Given the description of an element on the screen output the (x, y) to click on. 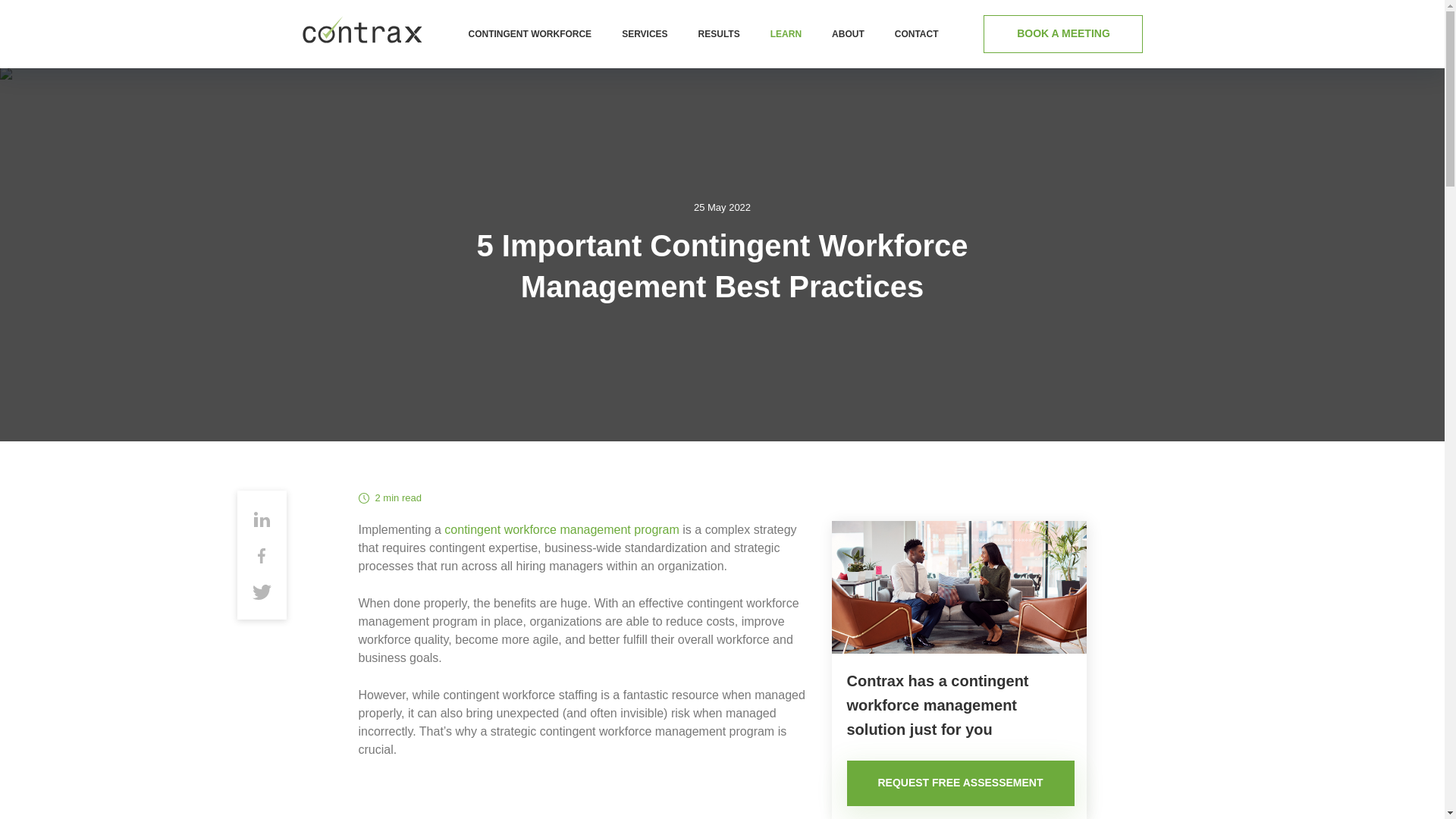
CONTACT (917, 33)
REQUEST FREE ASSESSEMENT (959, 782)
CONTINGENT WORKFORCE (529, 33)
ABOUT (847, 33)
contingent workforce management program (561, 529)
BOOK A MEETING (1063, 34)
Request Free Assessement (959, 782)
Get a Free Assessment (586, 801)
GET A FREE ASSESSMENT (586, 801)
LEARN (786, 33)
